Given the description of an element on the screen output the (x, y) to click on. 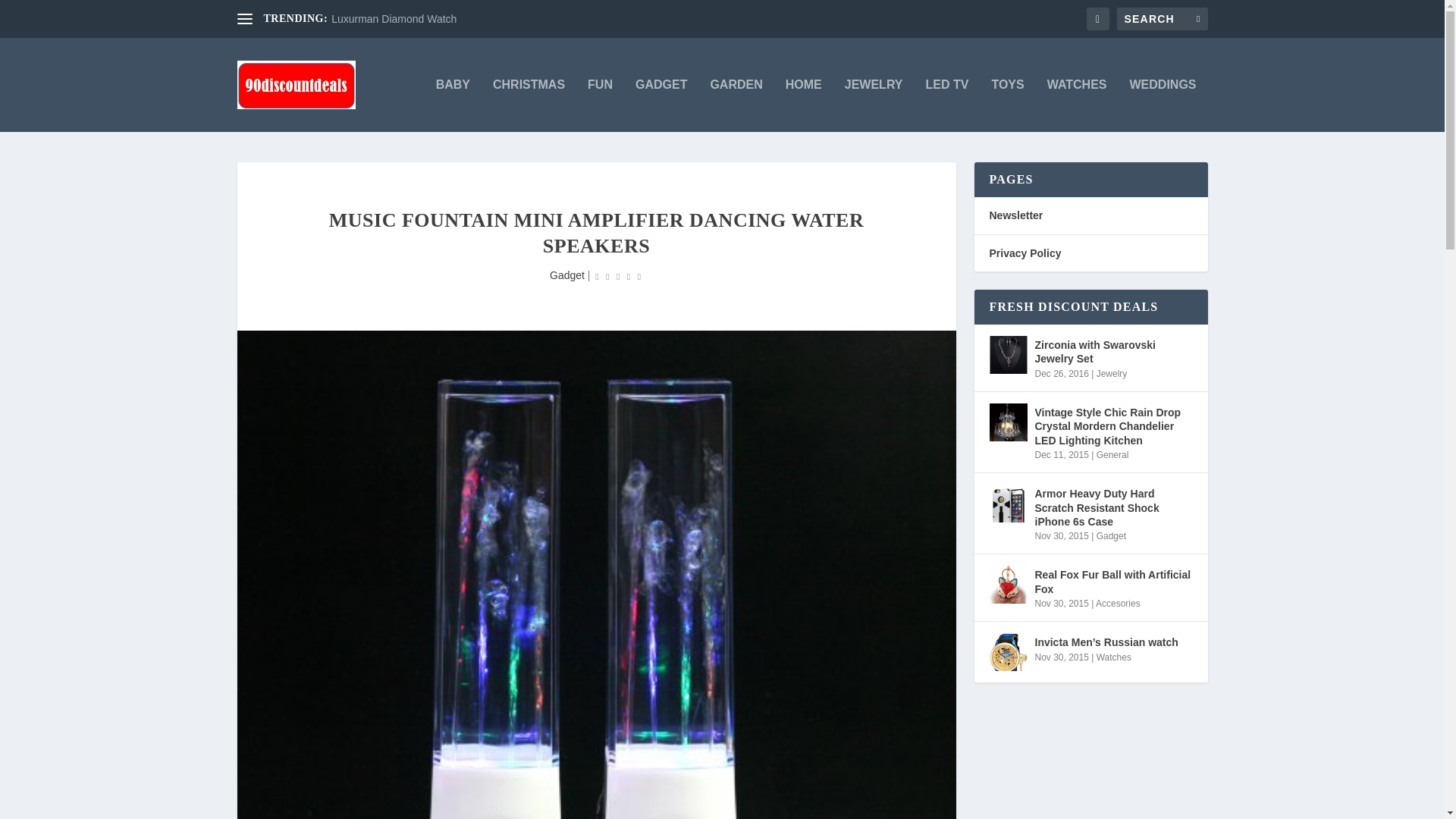
JEWELRY (873, 104)
Search for: (1161, 18)
CHRISTMAS (528, 104)
GADGET (660, 104)
Rating: 0.00 (617, 275)
WATCHES (1076, 104)
Luxurman Diamond Watch (394, 19)
GARDEN (735, 104)
WEDDINGS (1162, 104)
Gadget (567, 275)
